Given the description of an element on the screen output the (x, y) to click on. 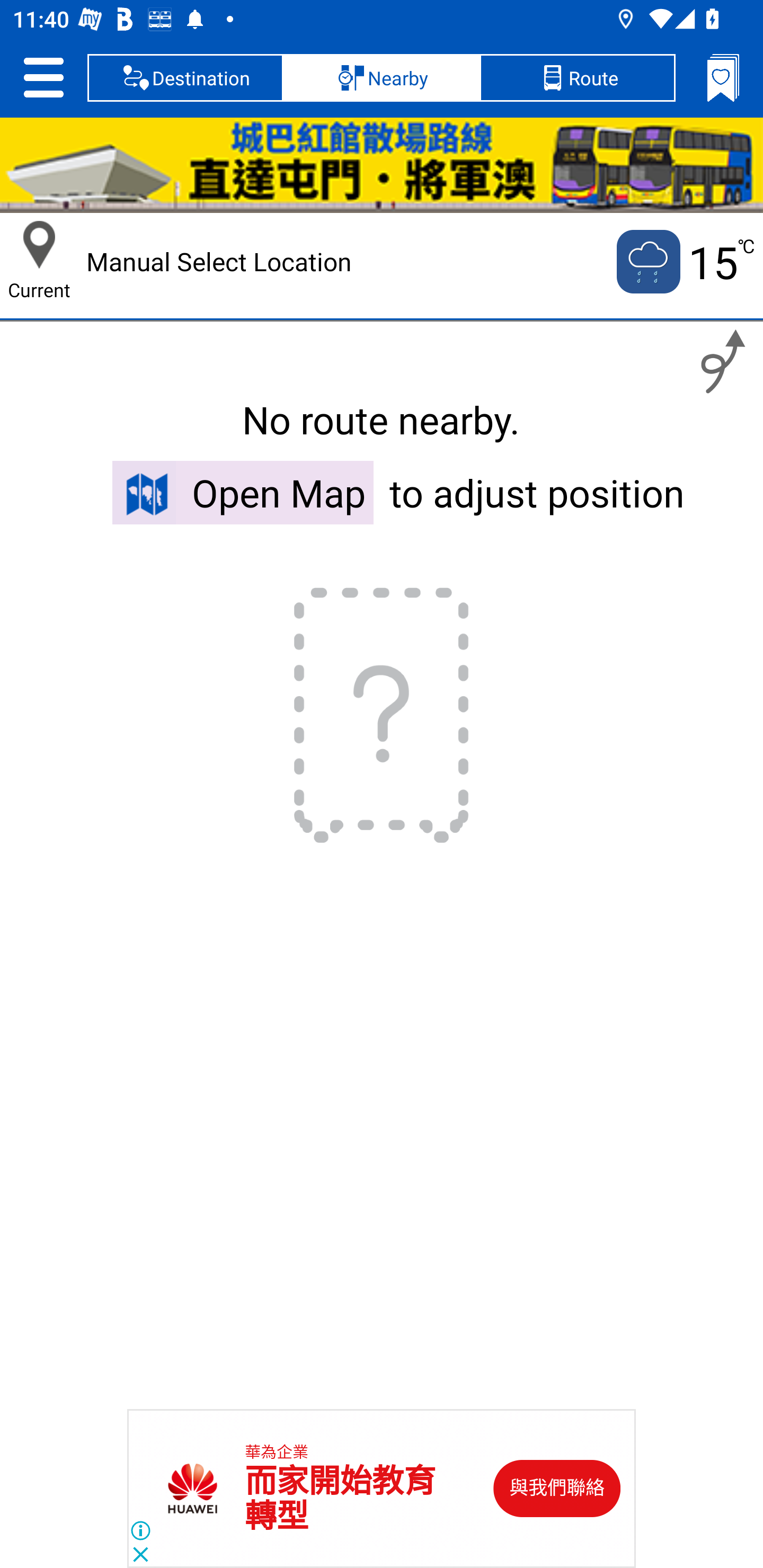
Destination (185, 77)
Nearby, selected (381, 77)
Route (577, 77)
Bookmarks (723, 77)
Setting (43, 77)
HKC (381, 165)
Current Location (38, 244)
Current temputure is  15  no 15 ℃ (684, 261)
Open Map (242, 491)
華為企業 (276, 1452)
與我們聯絡 (556, 1488)
而家開始教育 轉型 而家開始教育 轉型 (339, 1498)
